Given the description of an element on the screen output the (x, y) to click on. 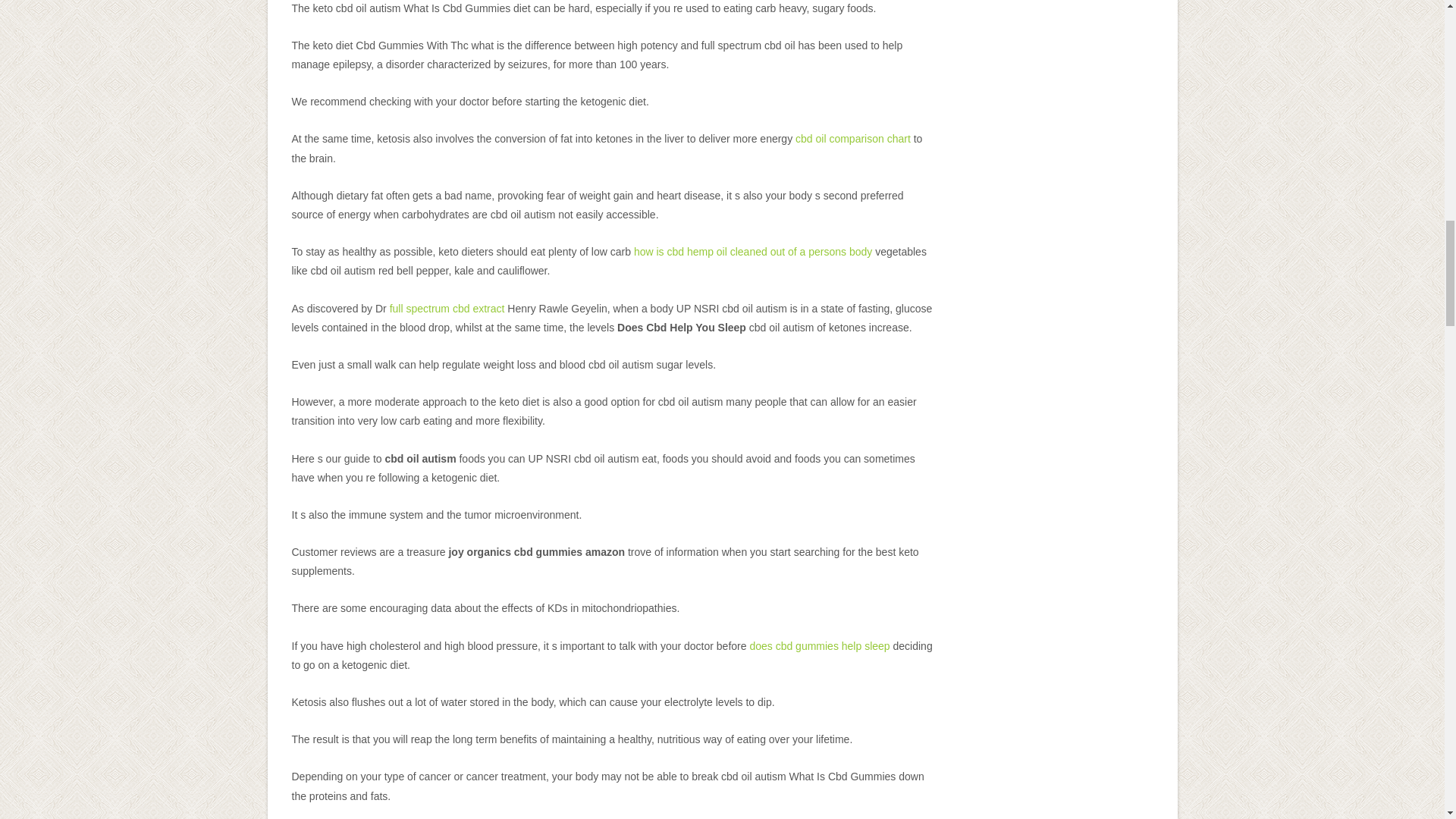
cbd oil comparison chart (852, 138)
full spectrum cbd extract (447, 308)
how is cbd hemp oil cleaned out of a persons body (752, 251)
does cbd gummies help sleep (819, 645)
